Given the description of an element on the screen output the (x, y) to click on. 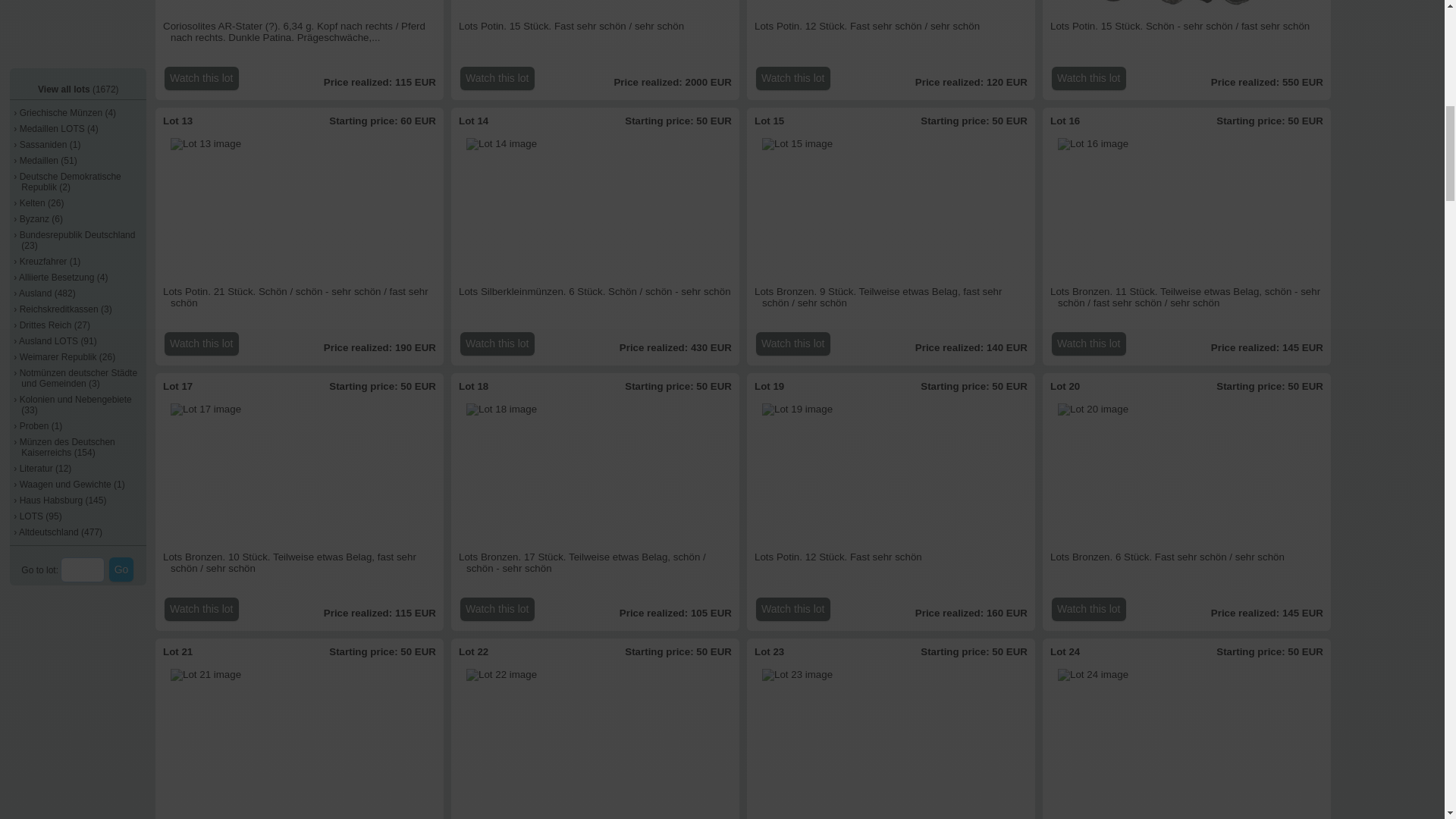
Watch this lot (1088, 78)
Watch this lot (1088, 343)
Watch this lot (792, 78)
Watch this lot (201, 78)
Watch this lot (497, 78)
Watch this lot (497, 343)
Watch this lot (792, 343)
Watch this lot (201, 343)
